Given the description of an element on the screen output the (x, y) to click on. 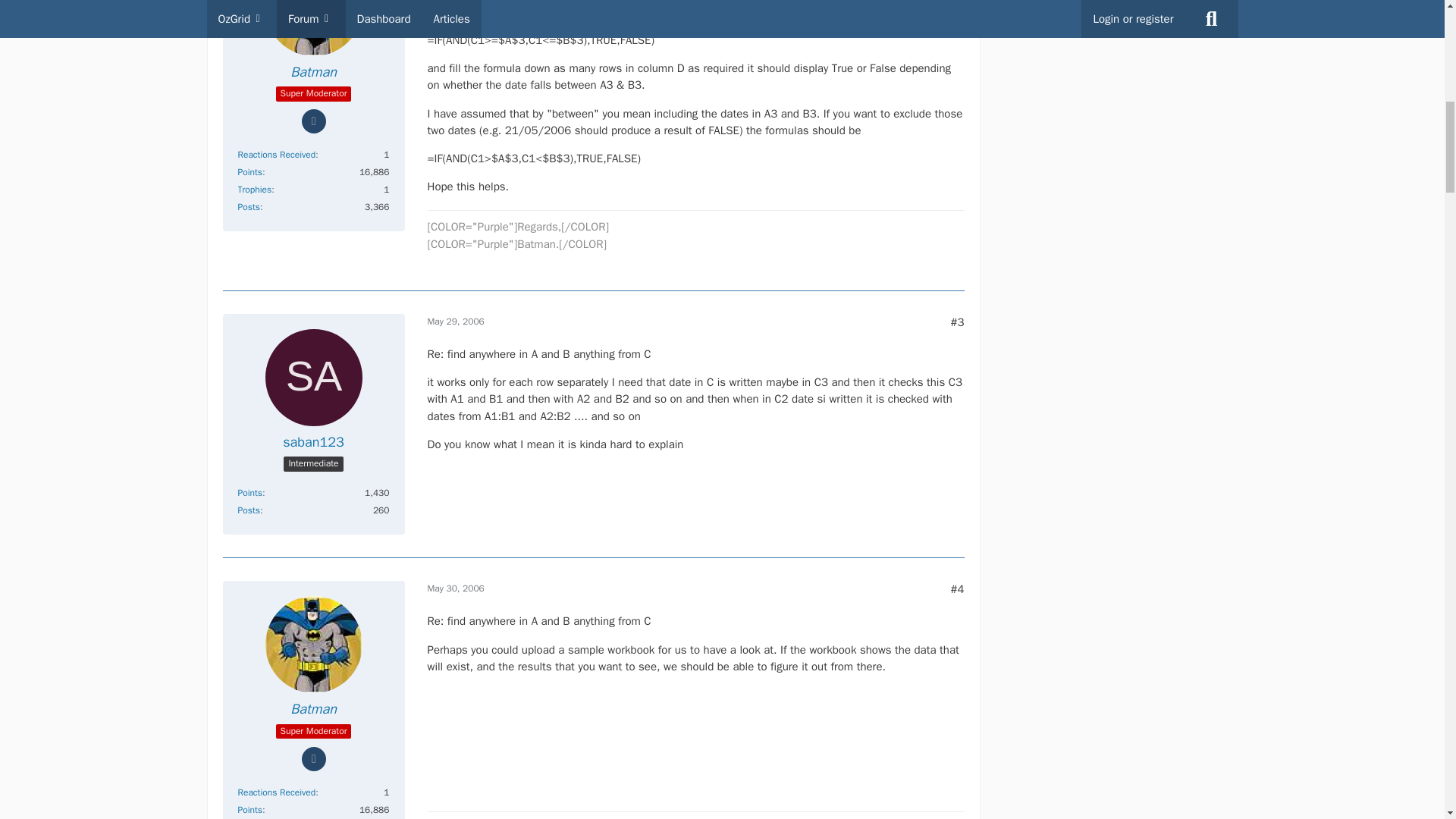
X (1434, 760)
Batman (312, 72)
